Given the description of an element on the screen output the (x, y) to click on. 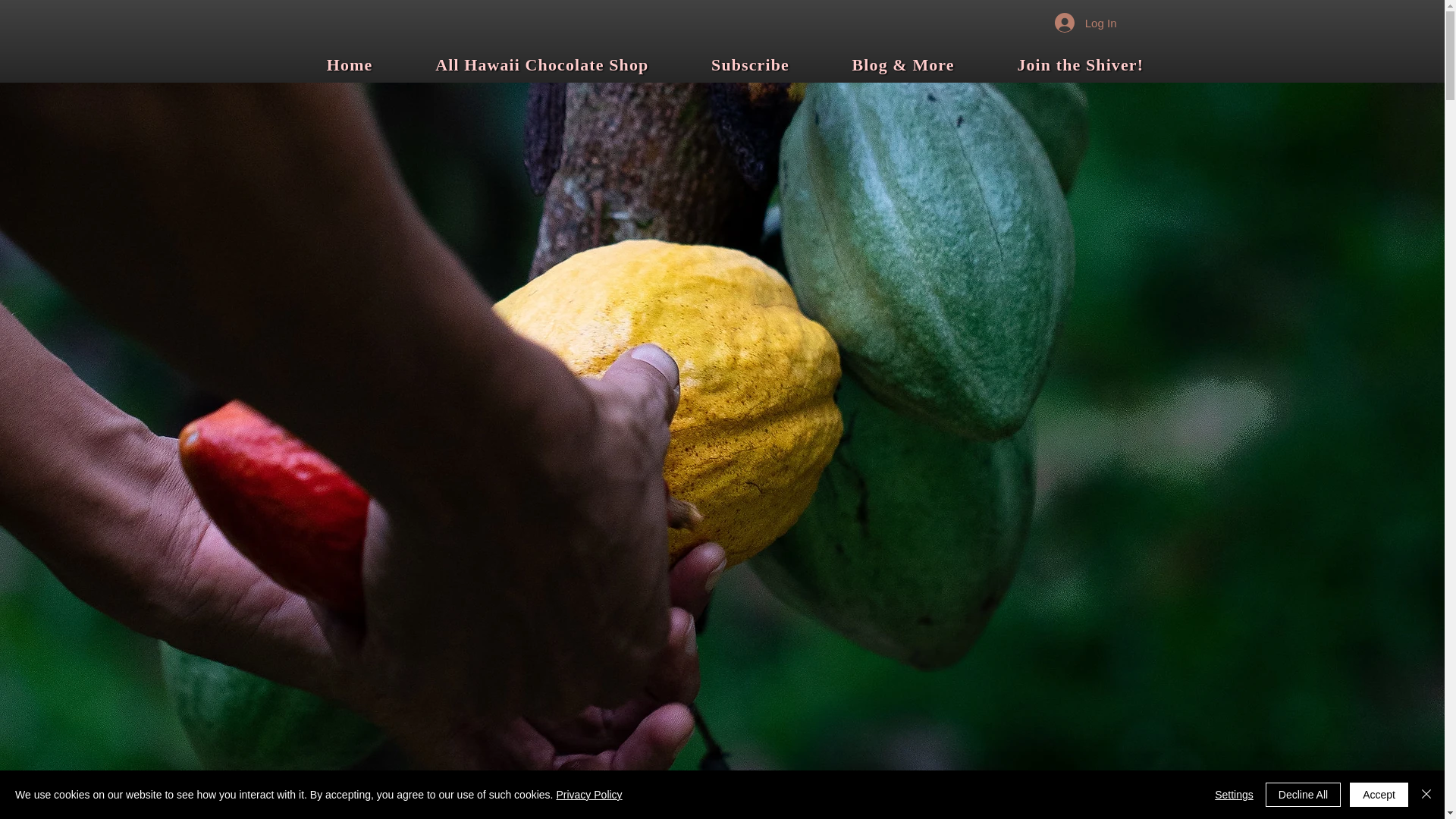
Privacy Policy (588, 794)
Home (349, 64)
Join the Shiver! (1080, 64)
All Hawaii Chocolate Shop (542, 64)
Decline All (1302, 794)
Accept (1378, 794)
Subscribe (750, 64)
Log In (1084, 22)
